Given the description of an element on the screen output the (x, y) to click on. 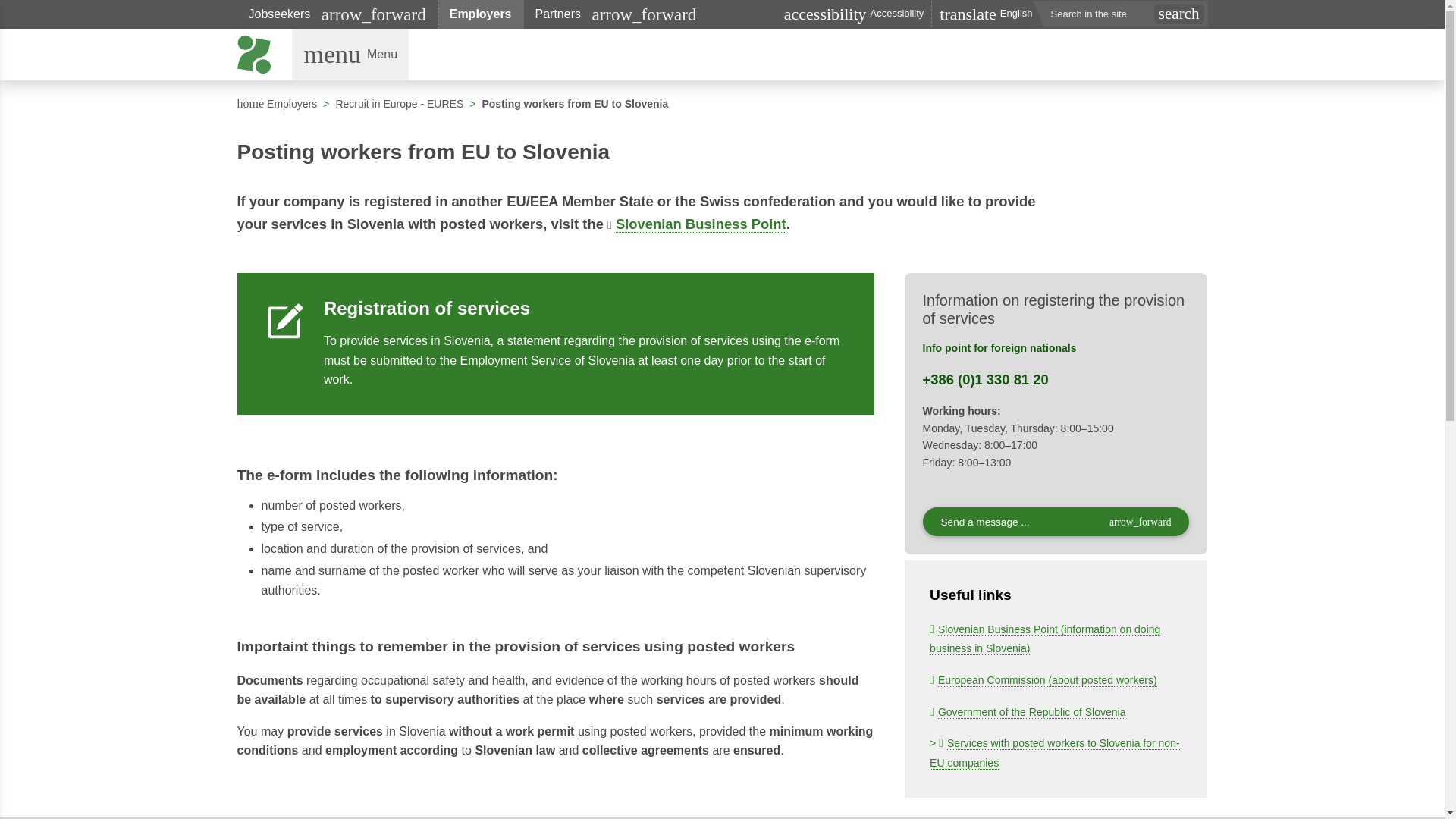
Link to Recruit in Europe - EURES (398, 103)
Jobseekers (337, 13)
Partners (616, 13)
On posted workers - European Commission (1043, 680)
Employers (480, 13)
Zavod za zaposlovanje (254, 54)
Link to Employers (350, 54)
English (276, 103)
